Given the description of an element on the screen output the (x, y) to click on. 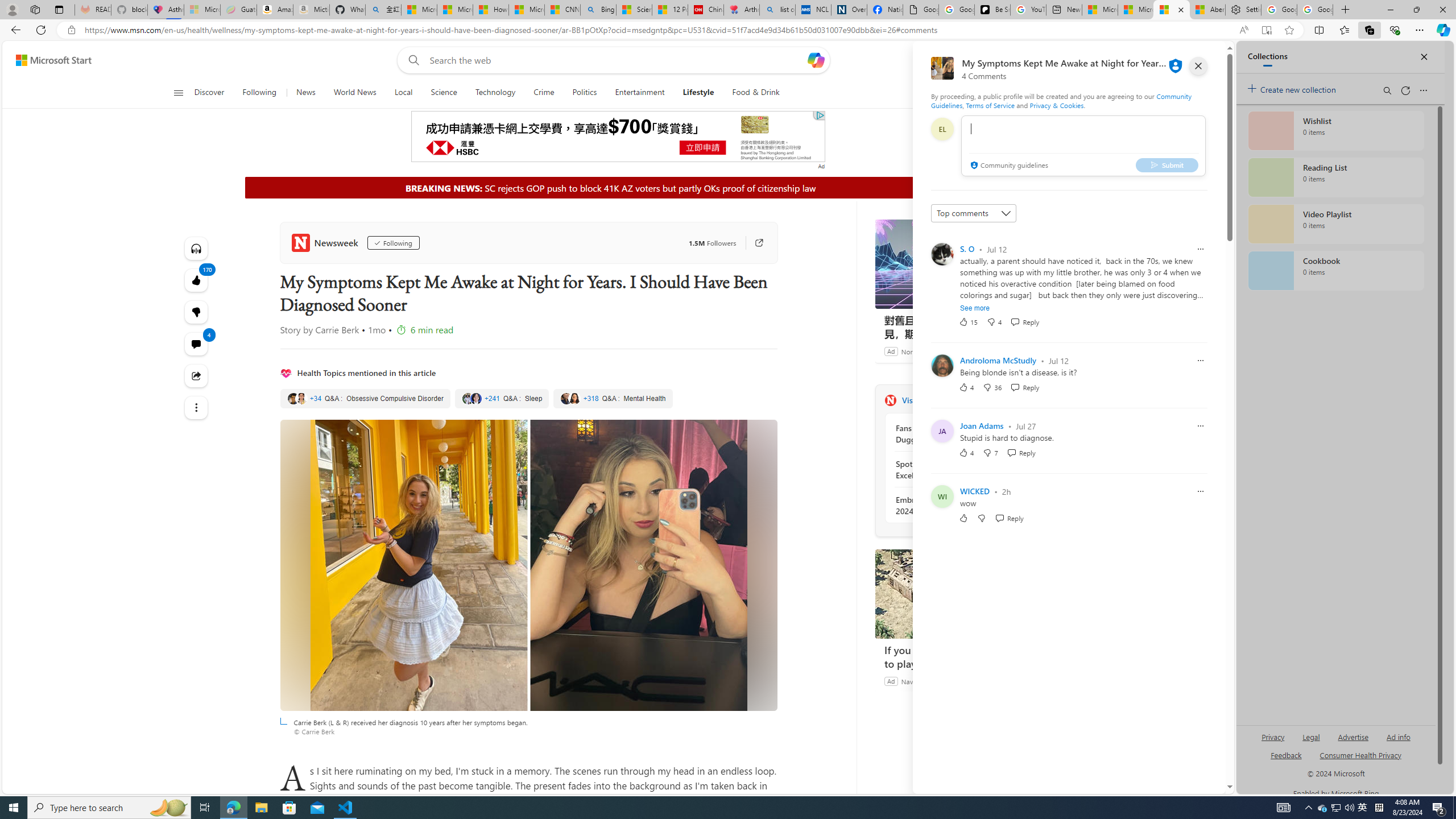
Profile Picture (941, 495)
170 Like (196, 279)
AutomationID: genId96 (1285, 759)
S. O (967, 248)
15 Like (967, 321)
View comments 4 Comment (196, 343)
